Given the description of an element on the screen output the (x, y) to click on. 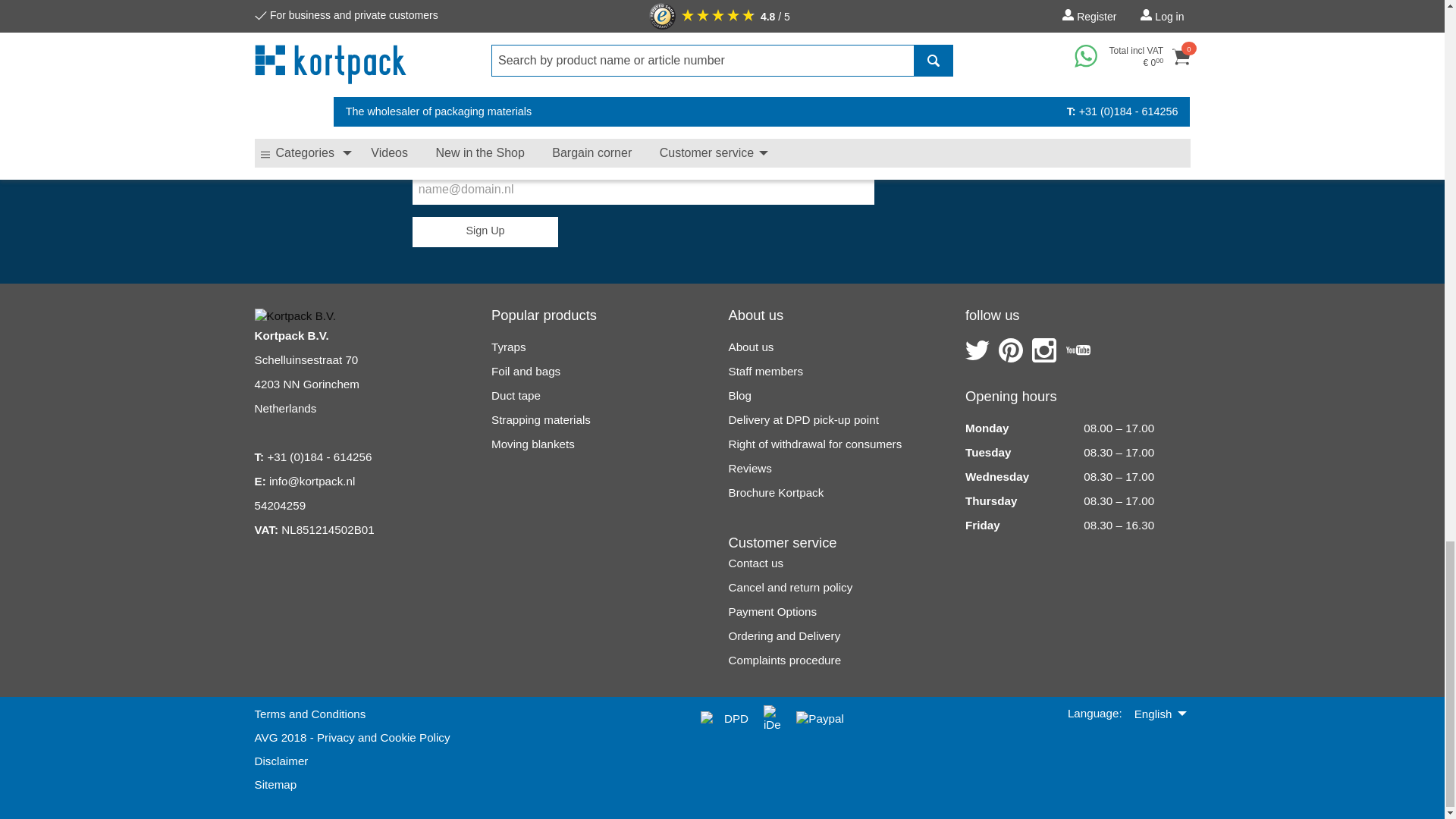
Social (1044, 350)
Social (1010, 350)
Social (977, 350)
Social (1077, 350)
